Given the description of an element on the screen output the (x, y) to click on. 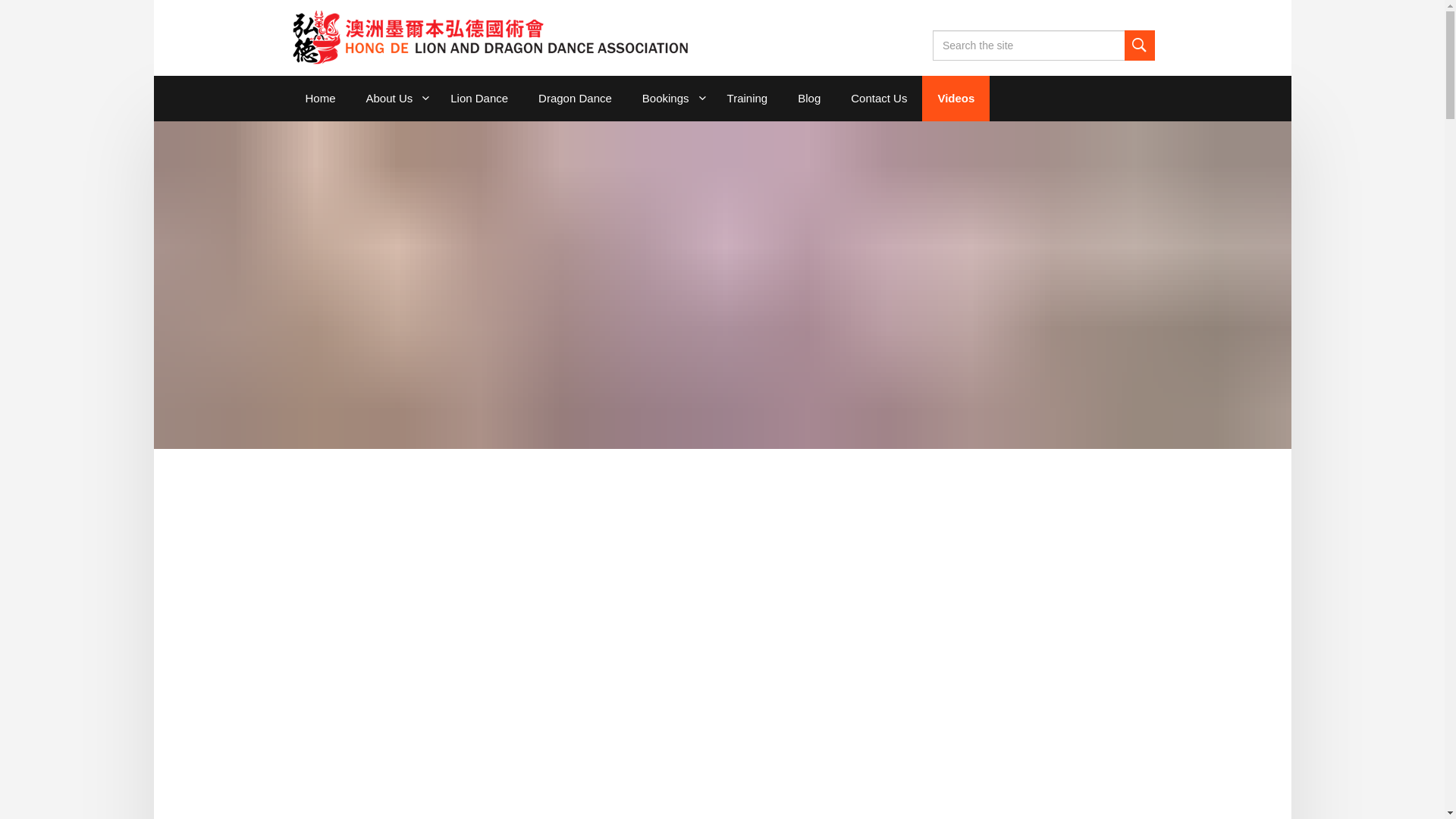
Lion Dance Element type: text (479, 98)
Blog Element type: text (808, 98)
About Us Element type: text (393, 98)
Bookings Element type: text (669, 98)
Videos Element type: text (955, 98)
Dragon Dance Element type: text (575, 98)
Home Element type: text (319, 98)
Training Element type: text (747, 98)
Contact Us Element type: text (878, 98)
